Given the description of an element on the screen output the (x, y) to click on. 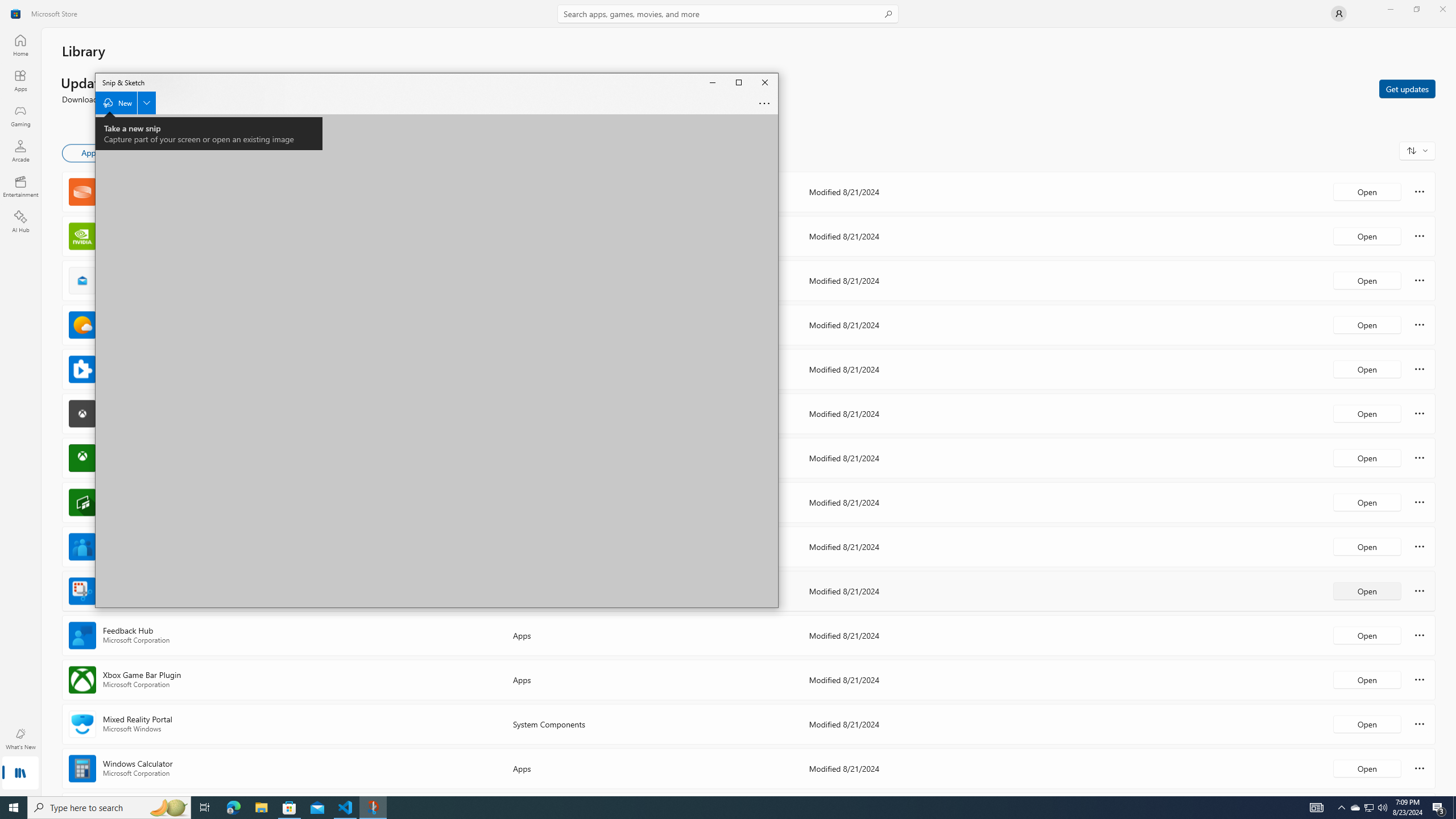
What's New (20, 738)
Task View (204, 807)
Search highlights icon opens search home window (167, 807)
File Explorer (261, 807)
Close Snip & Sketch (764, 82)
New Snip (125, 102)
AI Hub (20, 221)
Minimize Microsoft Store (1390, 9)
Microsoft Edge (233, 807)
User profile (1338, 13)
Class: Image (15, 13)
Snip & Sketch - 1 running window (373, 807)
AutomationID: 4105 (1316, 807)
Gaming (1368, 807)
